Given the description of an element on the screen output the (x, y) to click on. 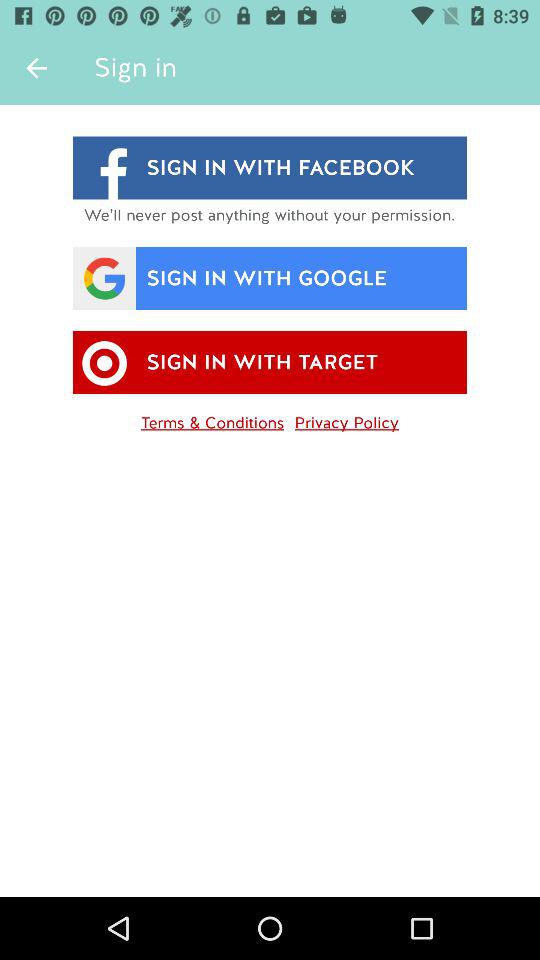
swipe until the terms & conditions icon (212, 419)
